Given the description of an element on the screen output the (x, y) to click on. 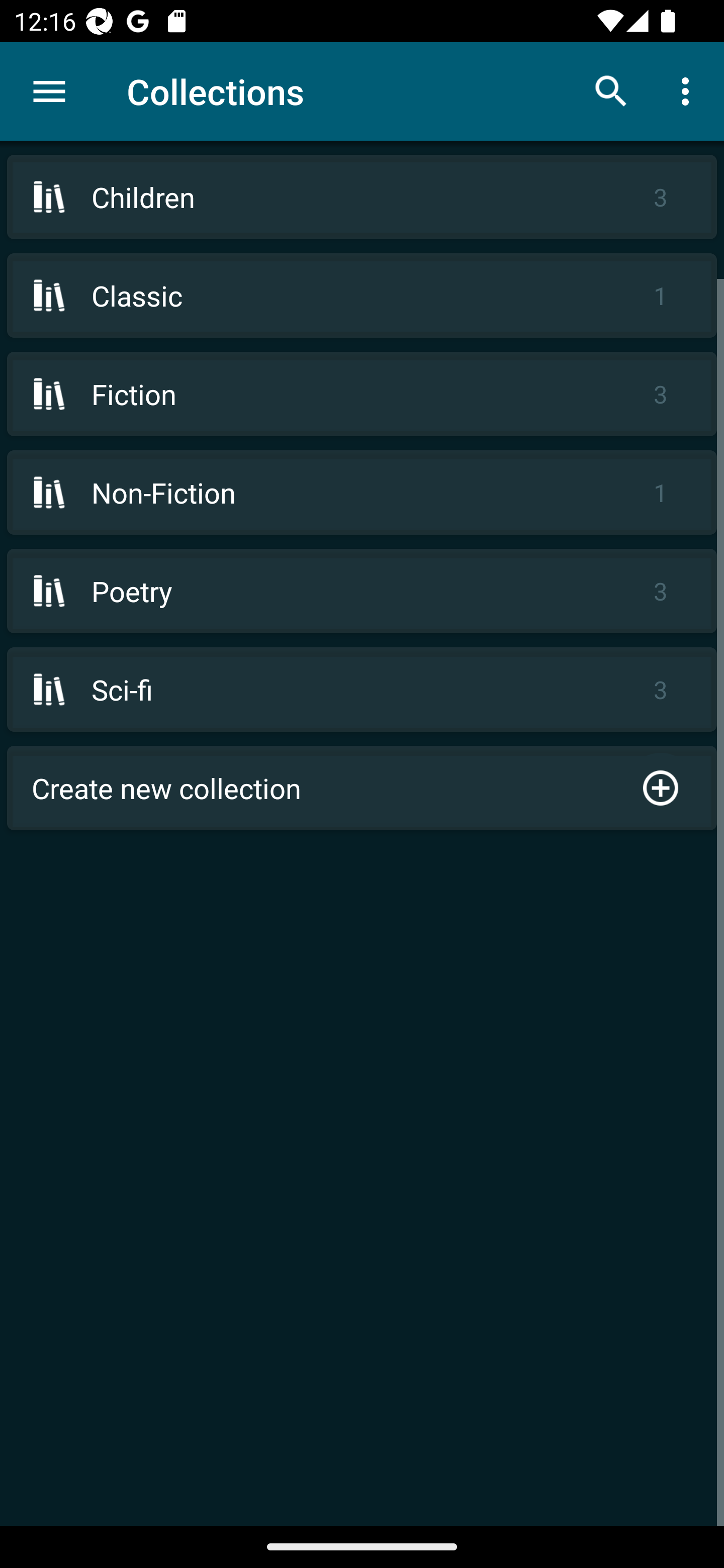
Menu (49, 91)
Search books & documents (611, 90)
More options (688, 90)
Children 3 (361, 197)
Classic 1 (361, 295)
Fiction 3 (361, 393)
Non-Fiction 1 (361, 492)
Poetry 3 (361, 590)
Sci-fi 3 (361, 689)
Create new collection (361, 787)
